Given the description of an element on the screen output the (x, y) to click on. 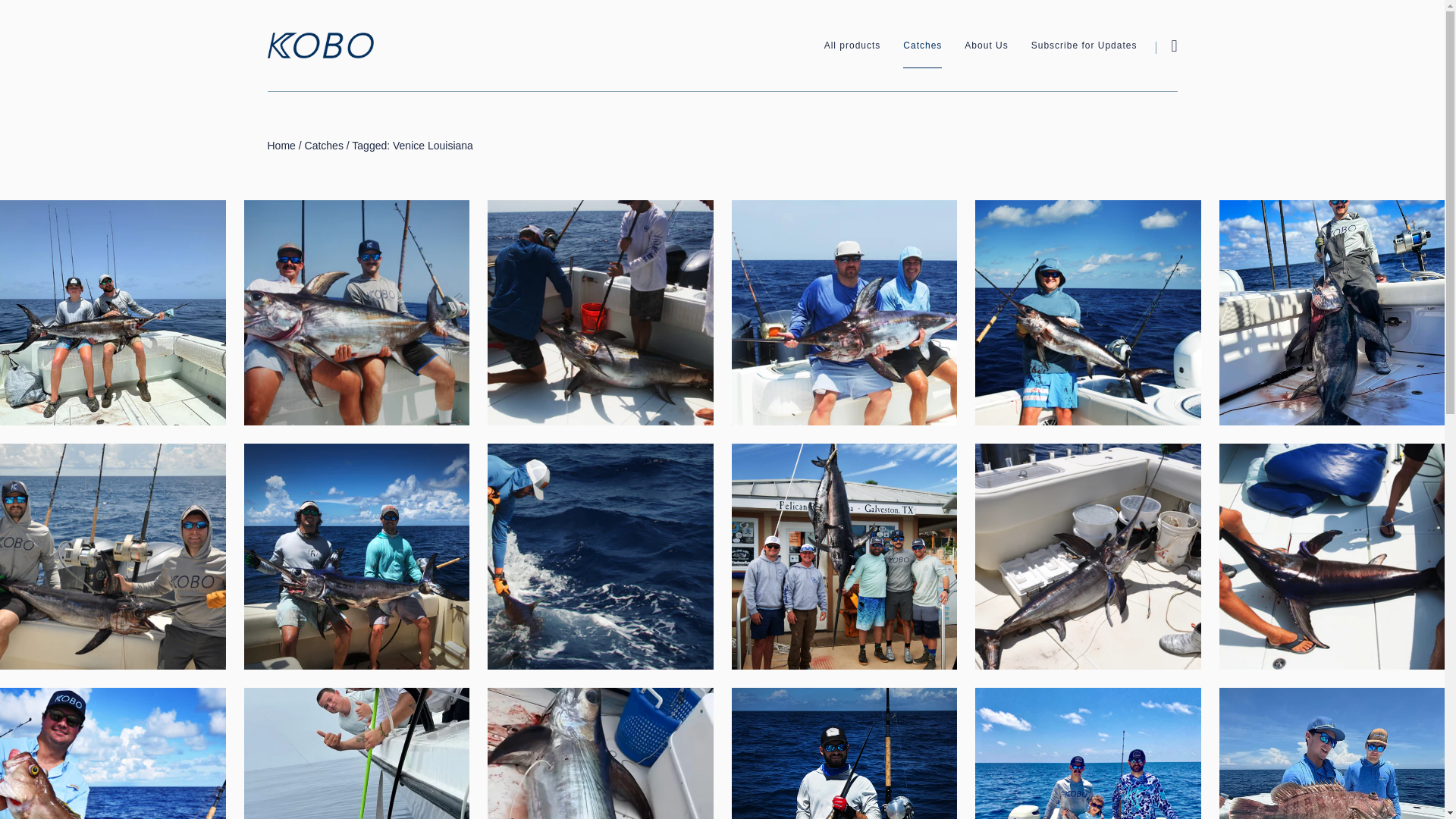
Catches (922, 45)
All products (852, 45)
Catches (323, 145)
About Us (985, 45)
Subscribe for Updates (1083, 45)
Home (280, 145)
